Given the description of an element on the screen output the (x, y) to click on. 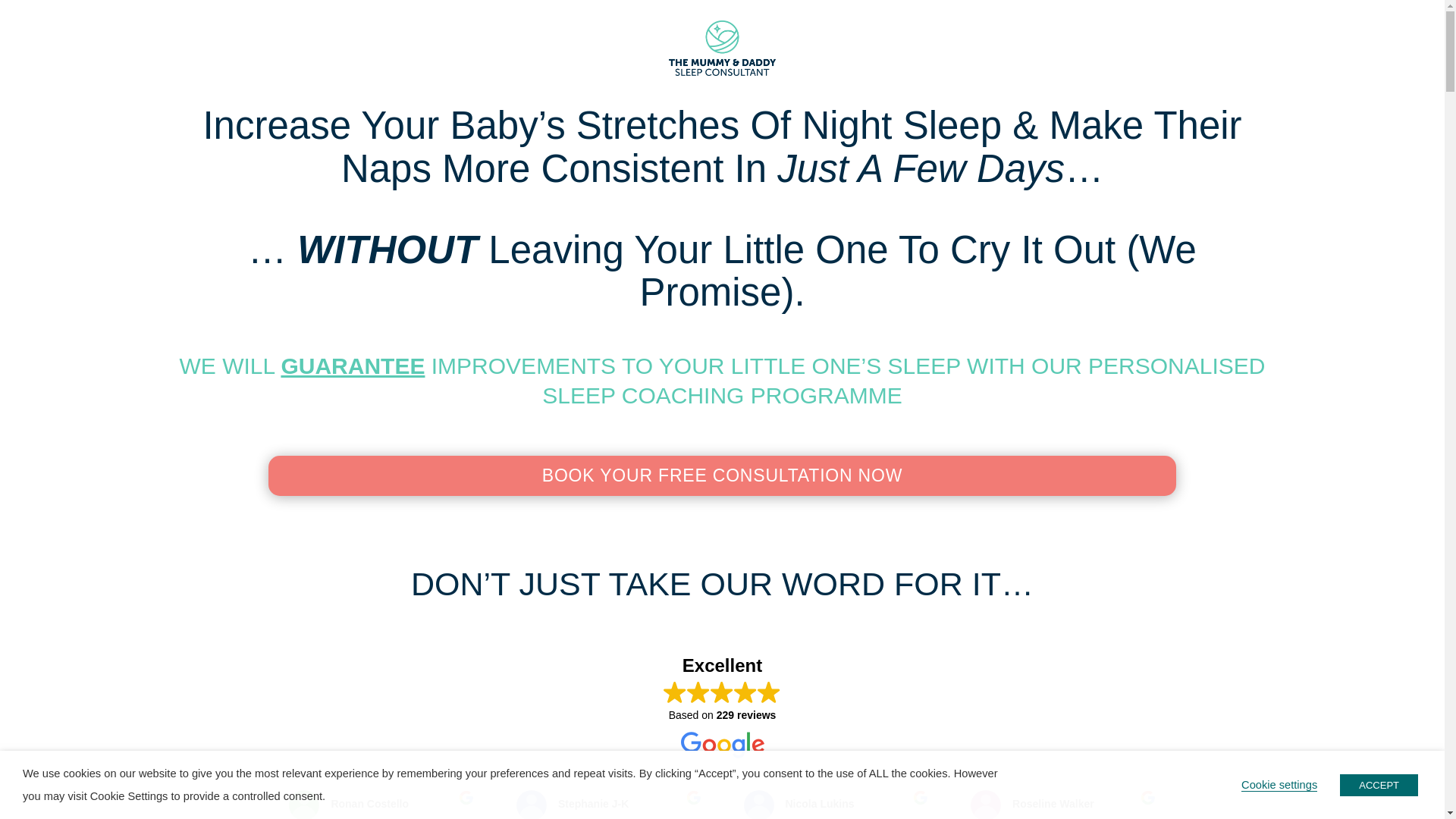
Cookie settings (1279, 784)
BOOK YOUR FREE CONSULTATION NOW (721, 475)
ACCEPT (1378, 784)
